Given the description of an element on the screen output the (x, y) to click on. 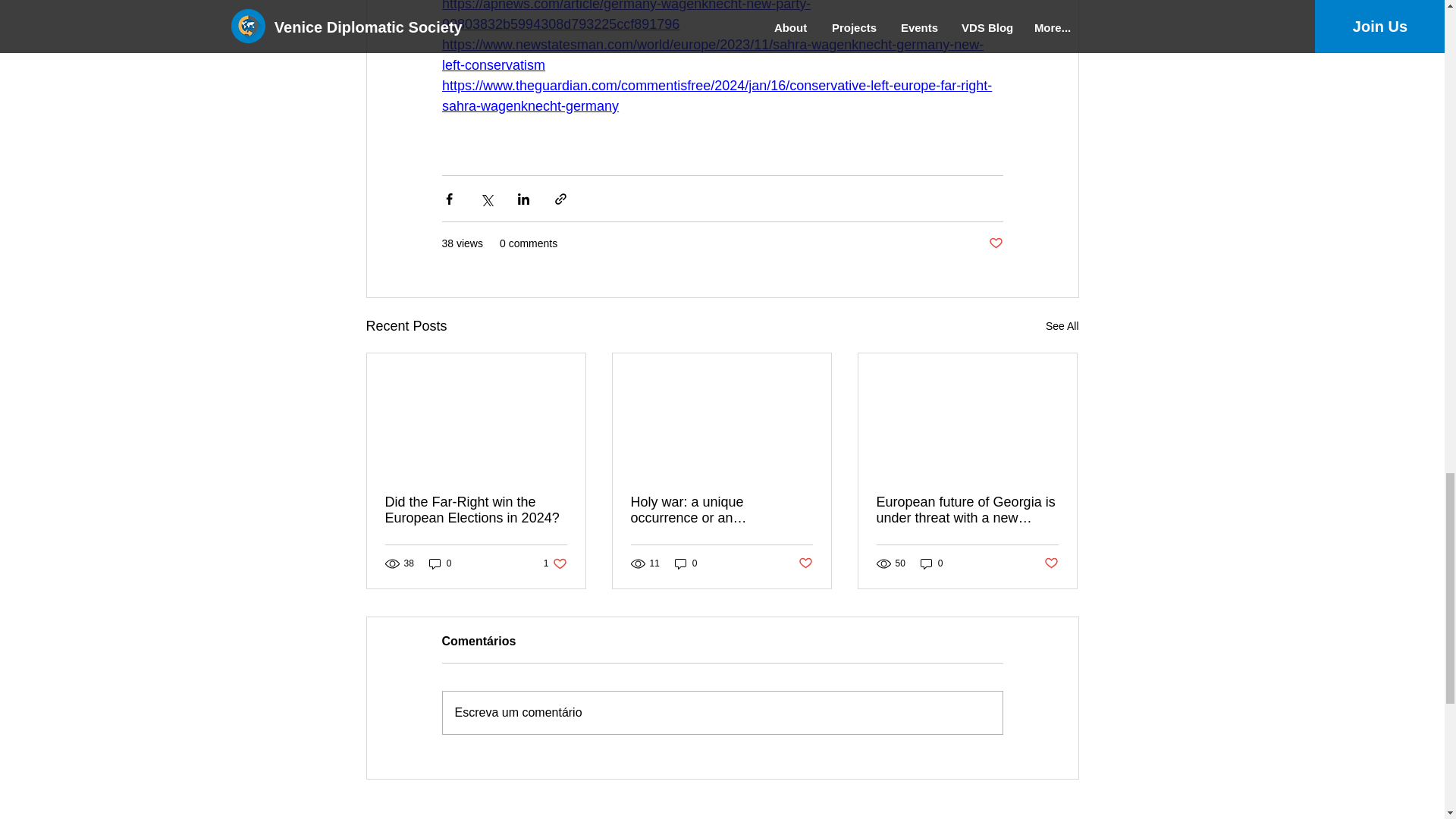
Holy war: a unique occurrence or an established practice? (555, 563)
Post not marked as liked (721, 510)
Did the Far-Right win the European Elections in 2024? (1050, 562)
Post not marked as liked (476, 510)
Post not marked as liked (995, 243)
See All (804, 562)
0 (1061, 326)
0 (685, 563)
0 (931, 563)
